Given the description of an element on the screen output the (x, y) to click on. 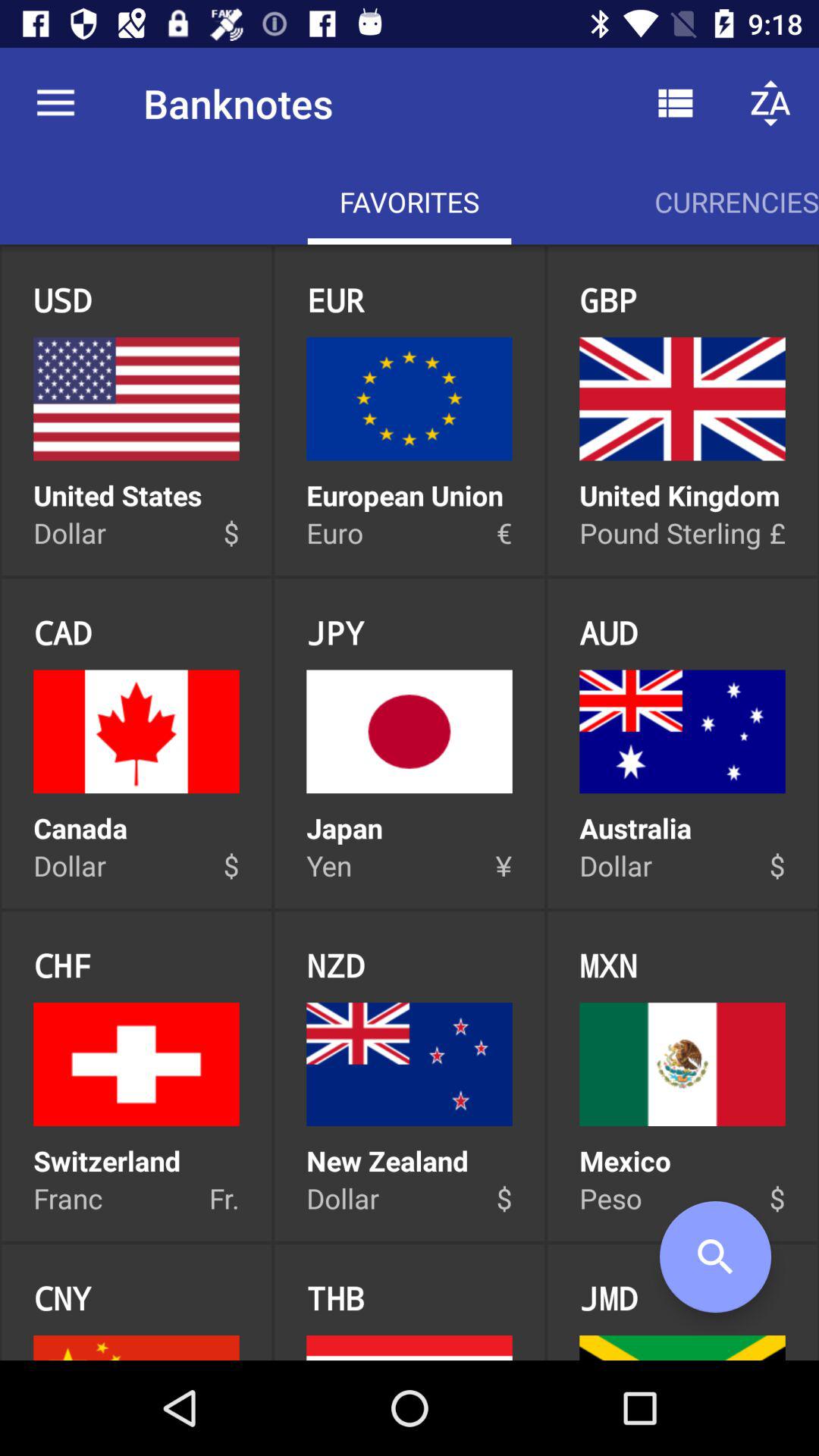
press item above the currencies app (771, 103)
